Given the description of an element on the screen output the (x, y) to click on. 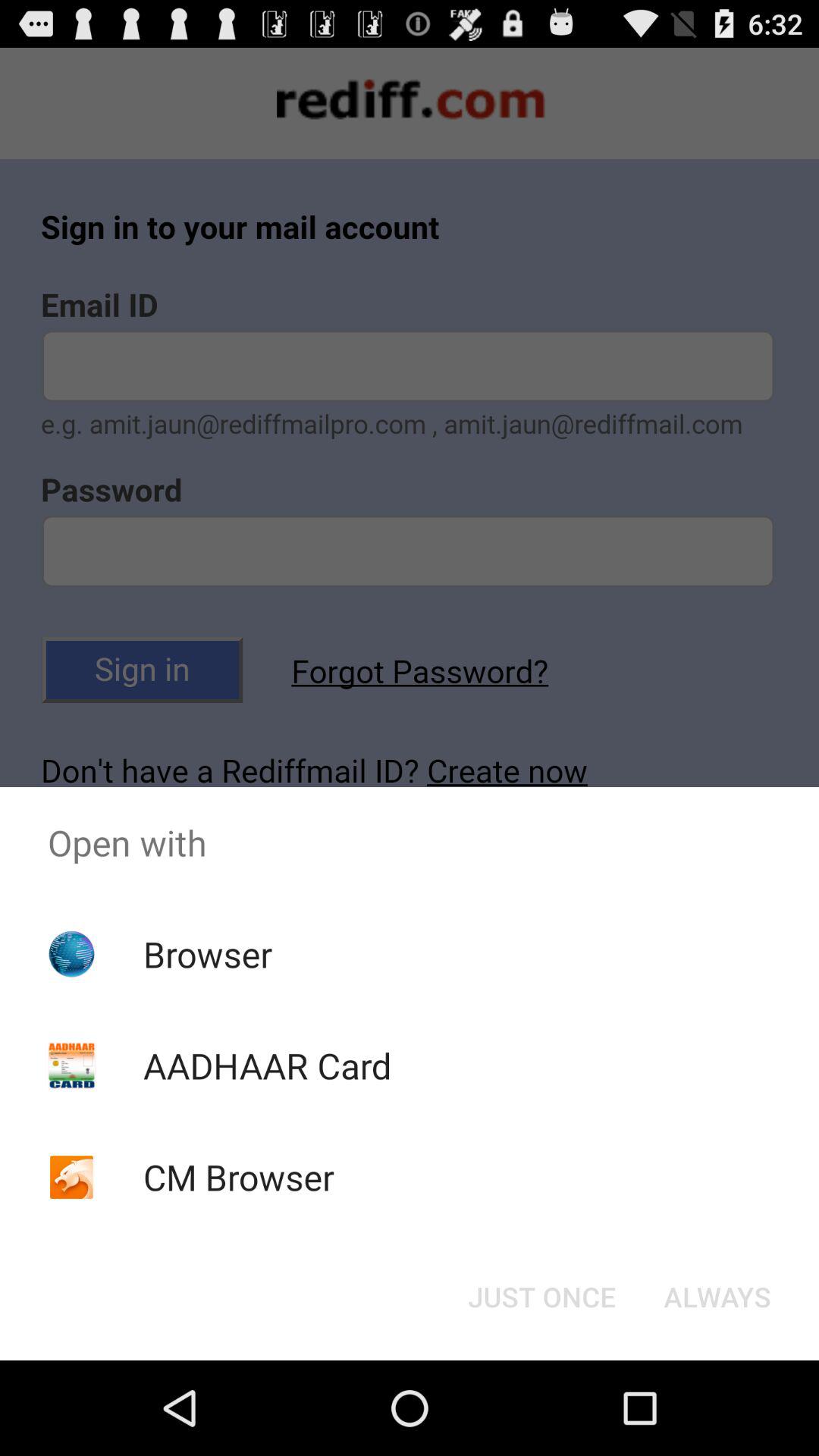
choose the aadhaar card (267, 1065)
